Given the description of an element on the screen output the (x, y) to click on. 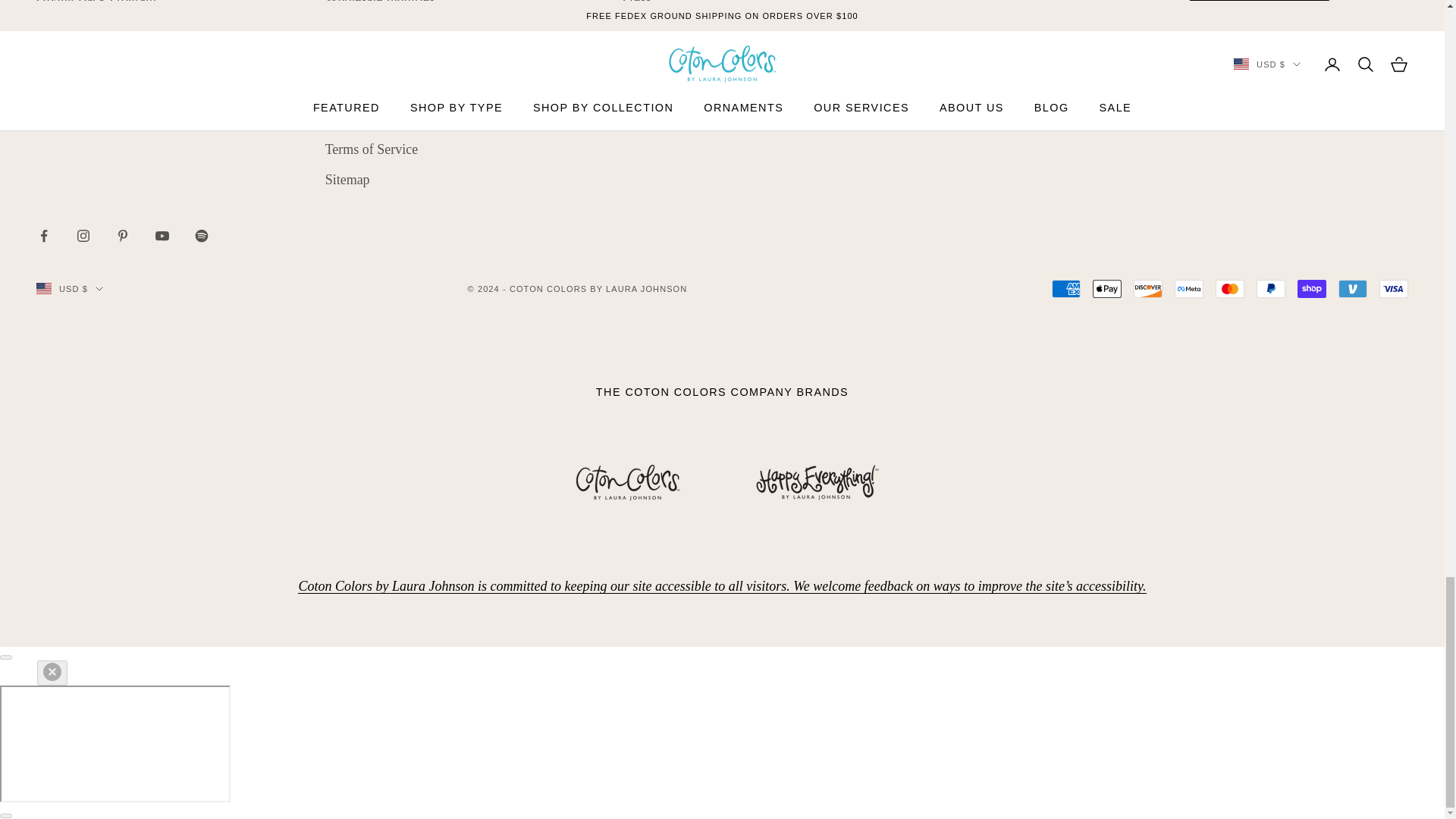
Accessibility (721, 585)
